Given the description of an element on the screen output the (x, y) to click on. 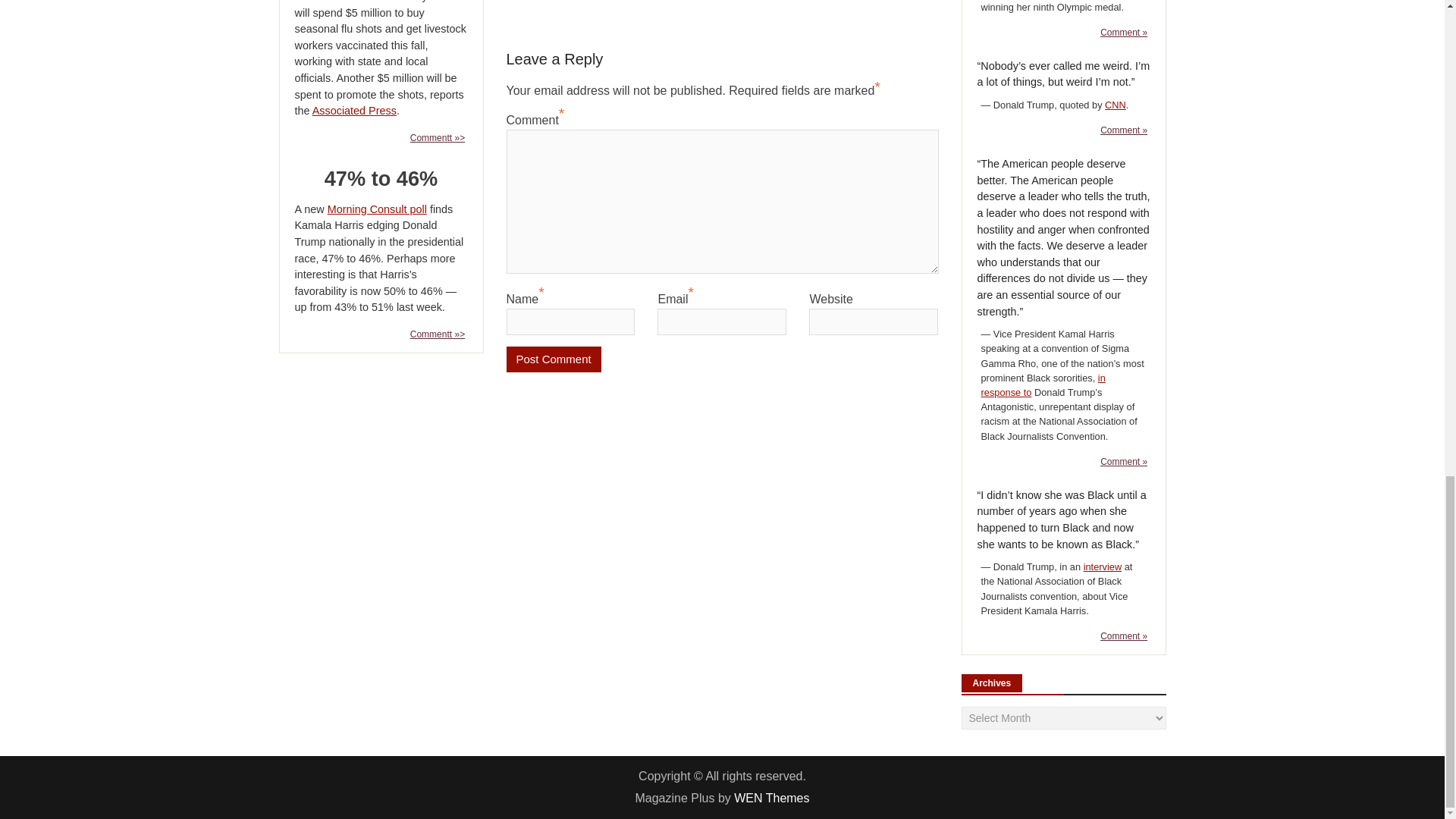
Permanent Link to This Weirdo Is Weirdly Weird (1123, 130)
Post Comment (553, 358)
Permanent Link to Even Simone Biles Is Dumping on Trump (1123, 32)
Post Comment (553, 358)
